Given the description of an element on the screen output the (x, y) to click on. 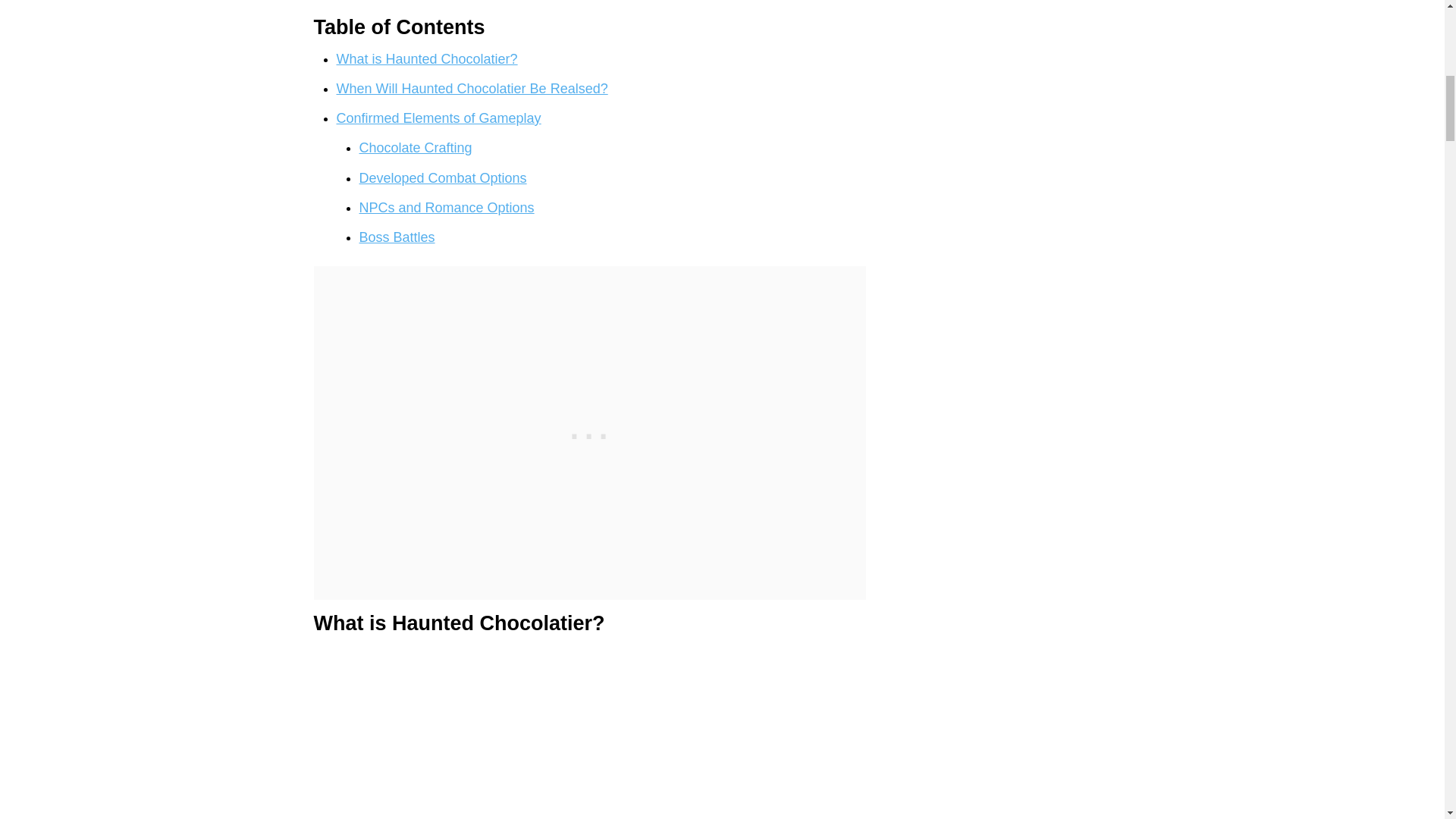
Developed Combat Options (443, 177)
Chocolate Crafting (415, 147)
NPCs and Romance Options (446, 207)
When Will Haunted Chocolatier Be Realsed? (472, 88)
Confirmed Elements of Gameplay (438, 118)
Boss Battles (397, 237)
What is Haunted Chocolatier? (427, 58)
ConcernedApe's Haunted Chocolatier -- Early Gameplay (526, 731)
